Given the description of an element on the screen output the (x, y) to click on. 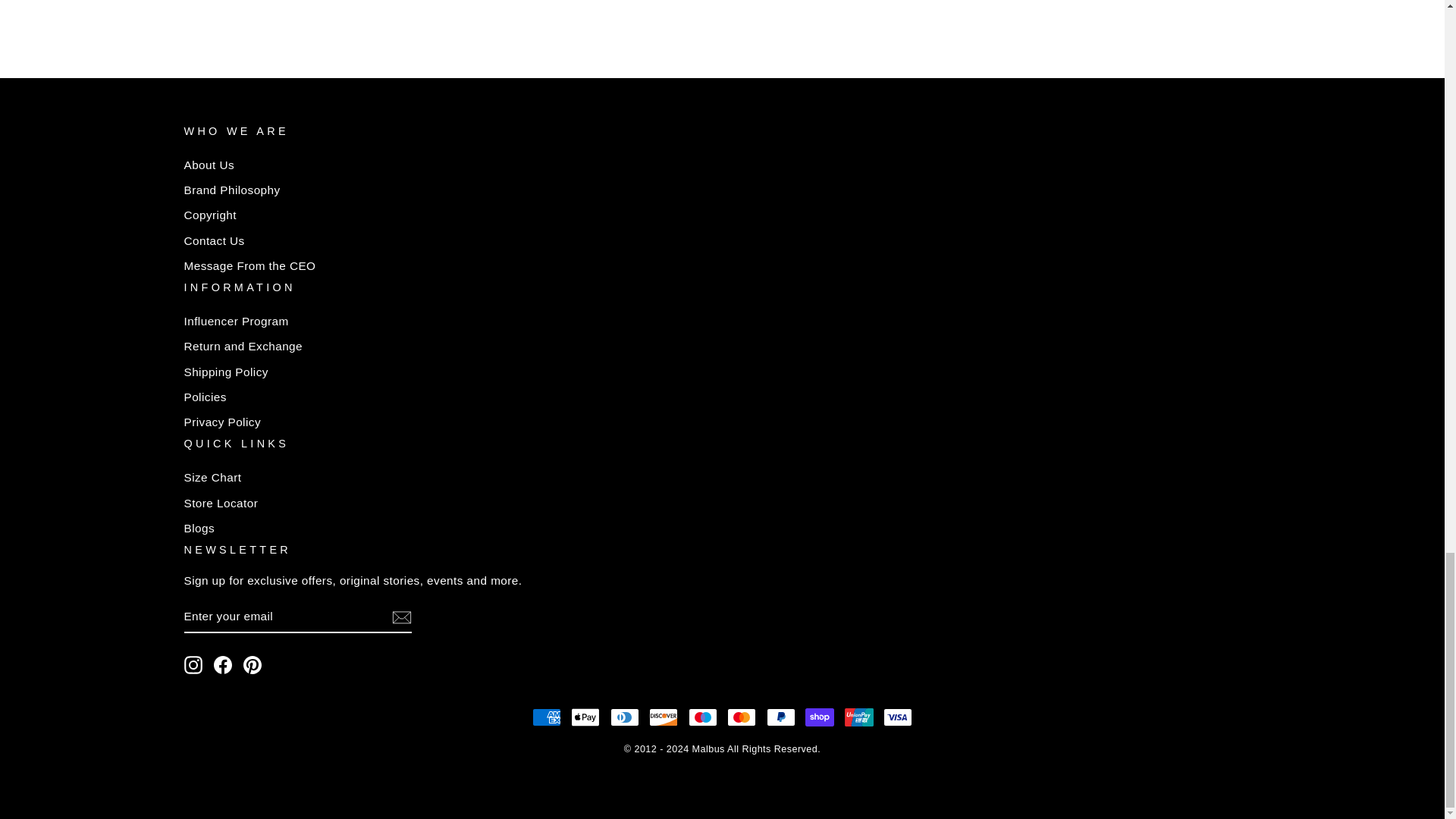
Malbus on Pinterest (251, 665)
Malbus on Facebook (222, 665)
Malbus on Instagram (192, 665)
